Given the description of an element on the screen output the (x, y) to click on. 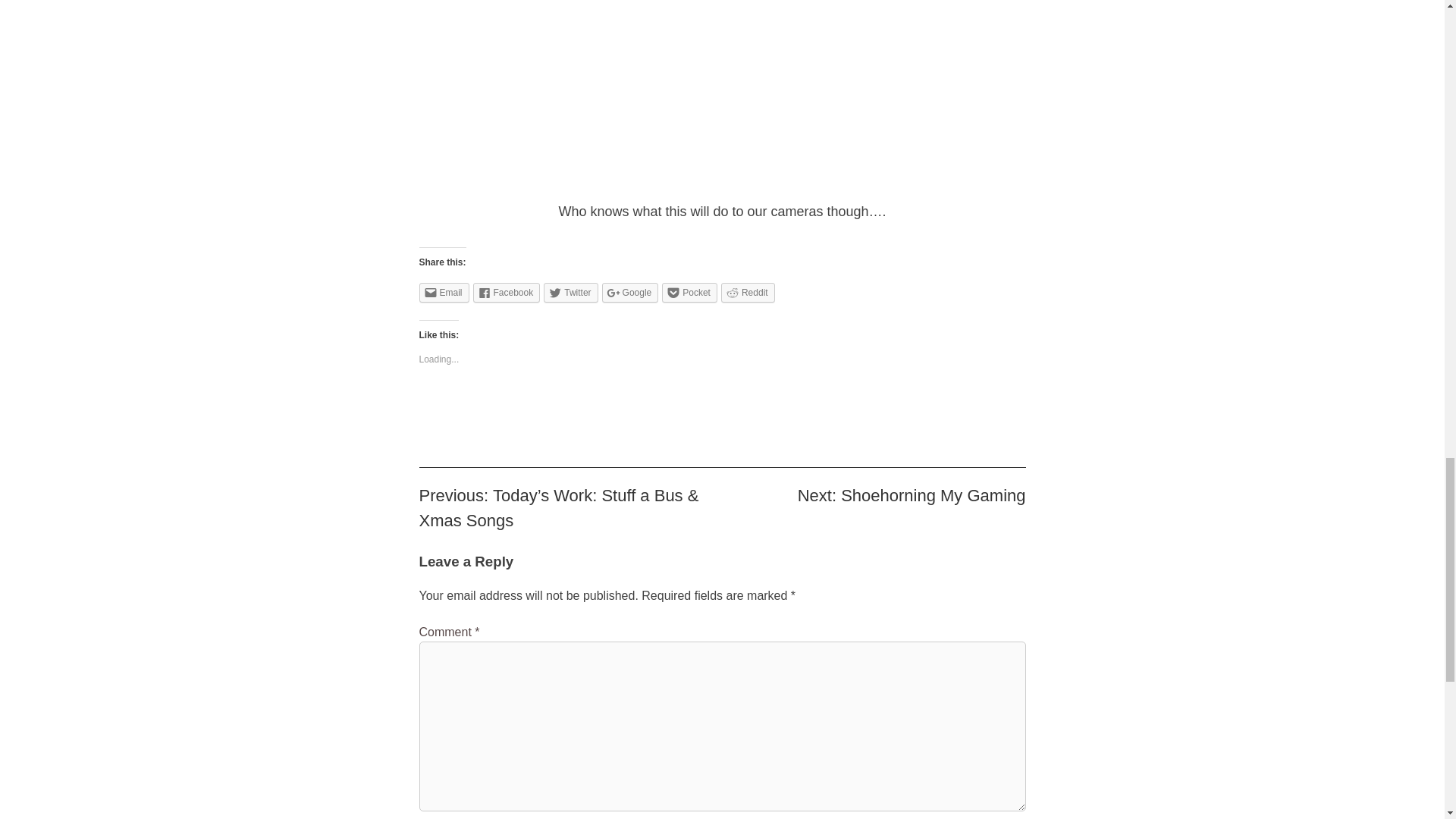
Click to share on Reddit (747, 292)
Reddit (747, 292)
Next: Shoehorning My Gaming (911, 495)
Facebook (506, 292)
Click to share on Twitter (569, 292)
Pocket (689, 292)
Click to share on Pocket (689, 292)
Email (443, 292)
Twitter (569, 292)
Click to email this to a friend (443, 292)
Google (630, 292)
Click to share on Facebook (506, 292)
